Given the description of an element on the screen output the (x, y) to click on. 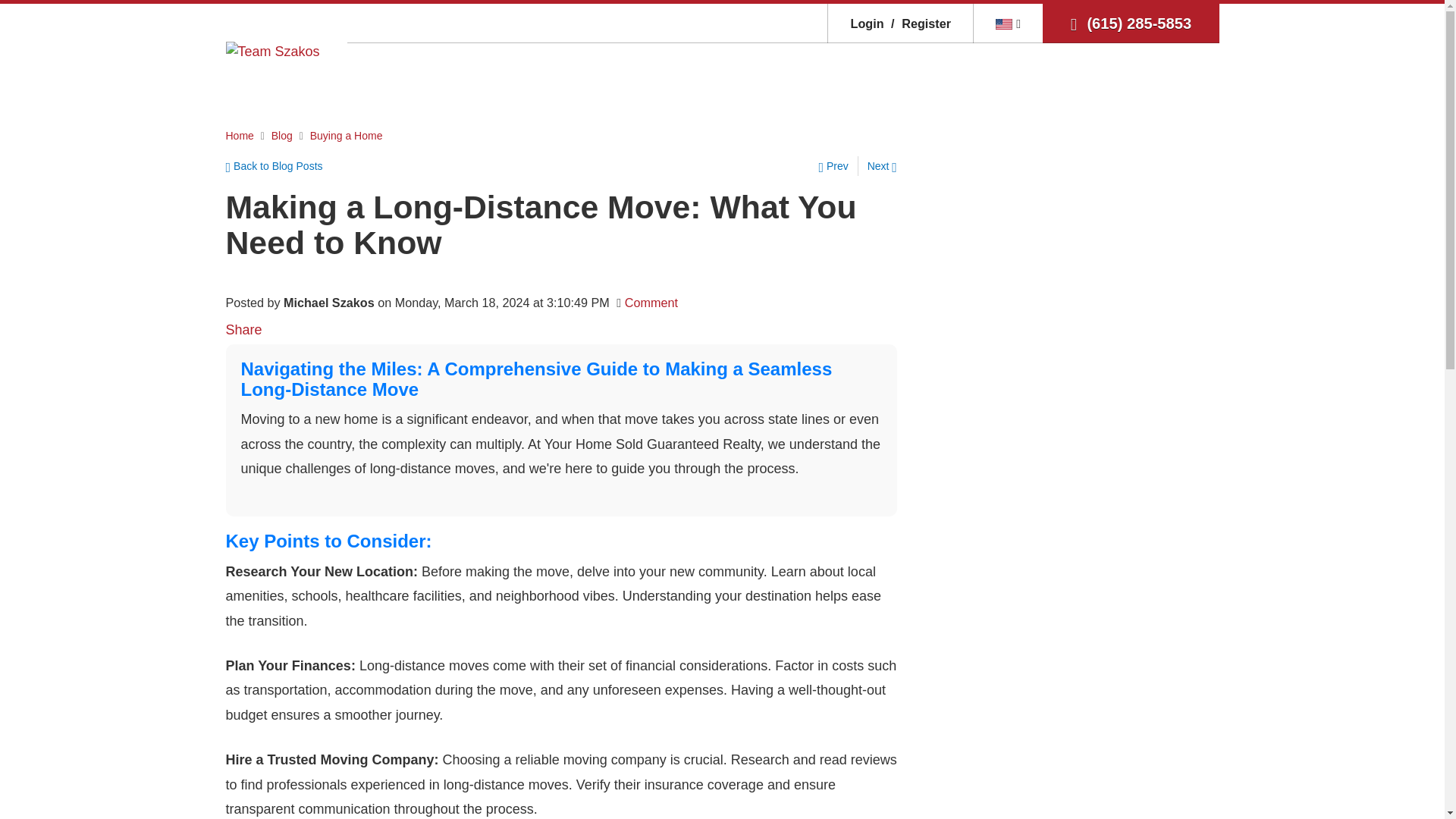
Home Page (272, 50)
Select Language (1008, 23)
Login (866, 23)
Register (918, 23)
